Given the description of an element on the screen output the (x, y) to click on. 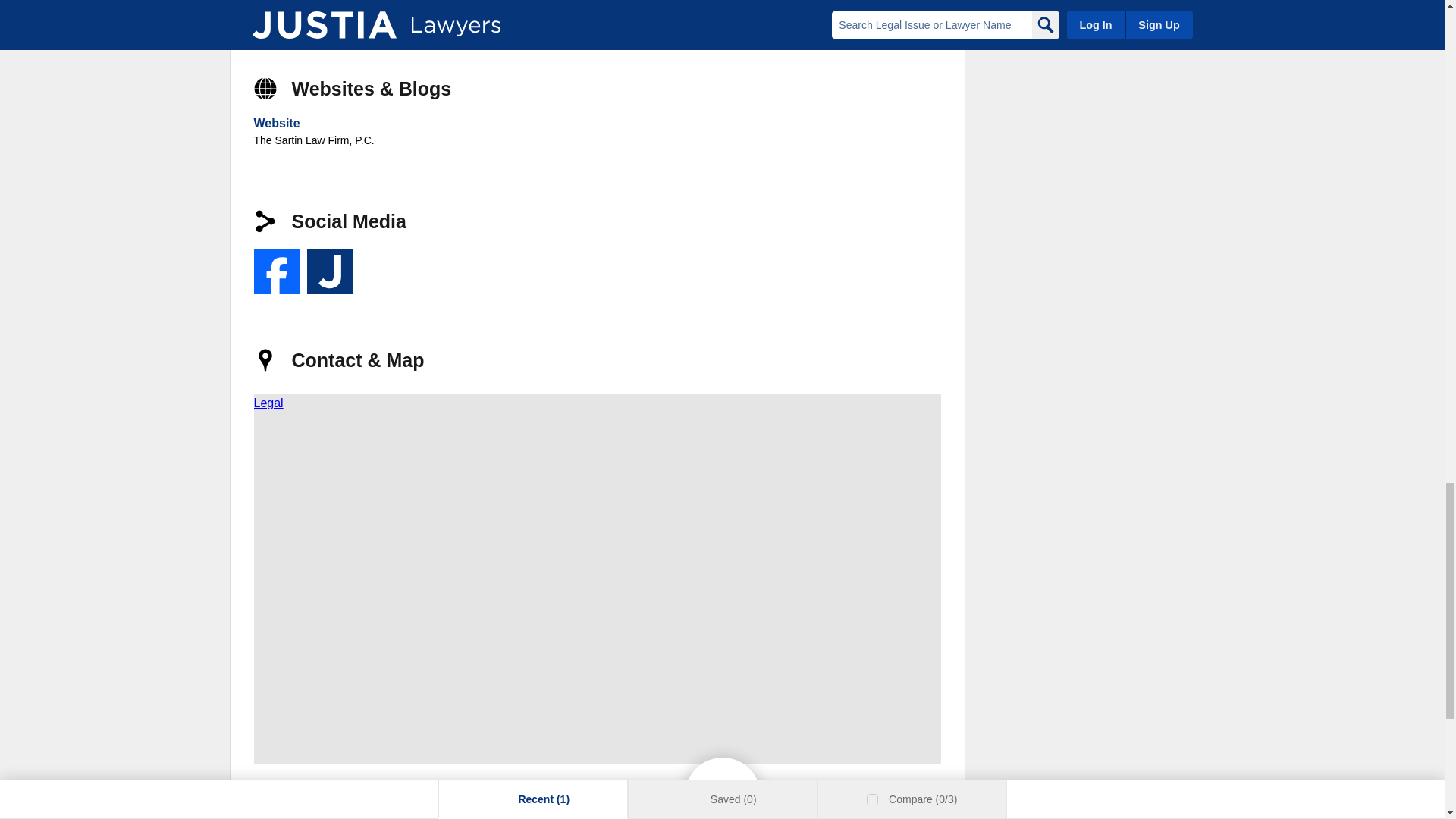
Facebook (275, 271)
 Justia Profile (328, 271)
Paul Austin Sartin on Facebook (275, 271)
Justia Profile (328, 271)
Website (276, 123)
